Given the description of an element on the screen output the (x, y) to click on. 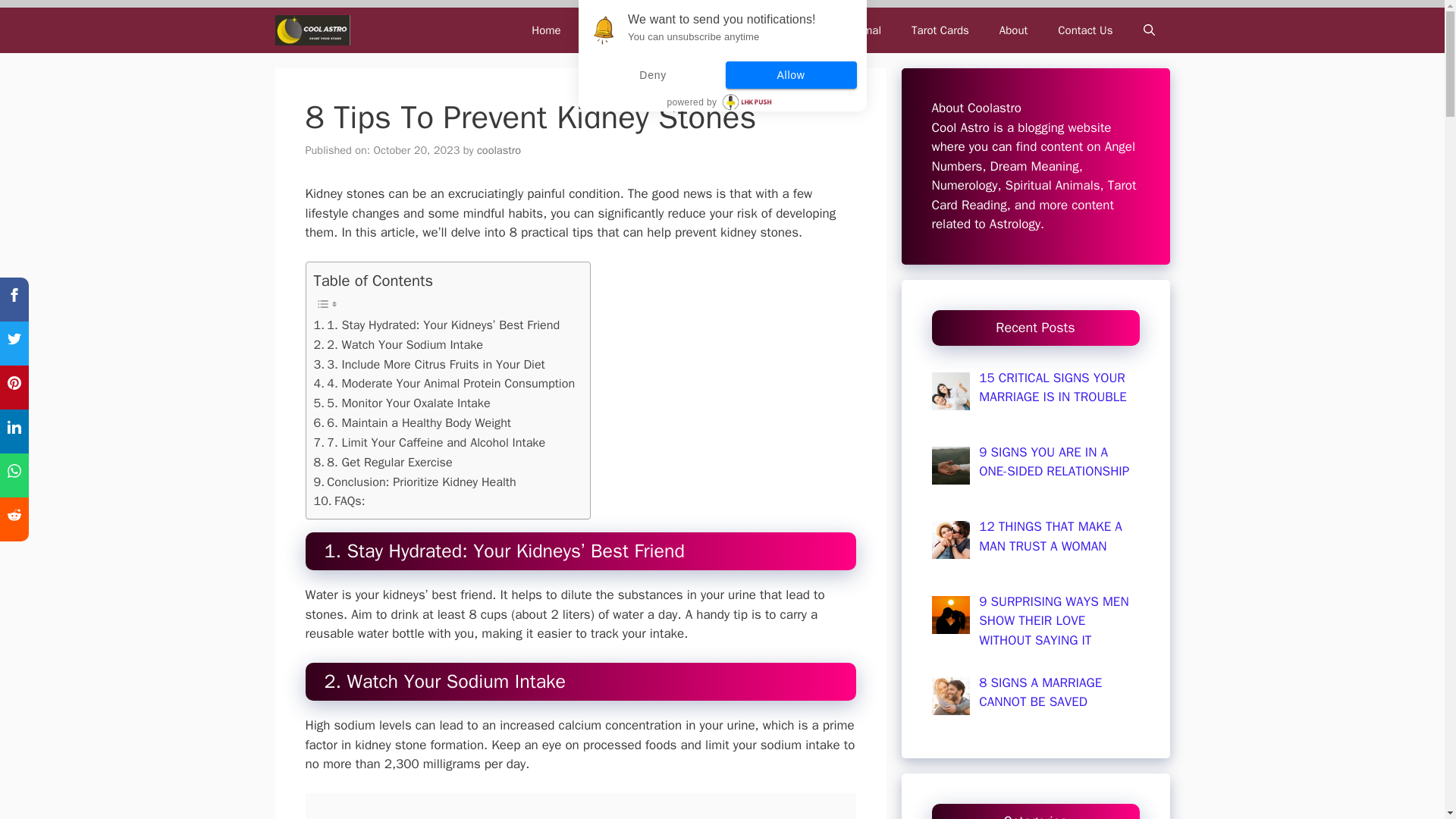
6. Maintain a Healthy Body Weight (413, 423)
Contact Us (1084, 30)
6. Maintain a Healthy Body Weight (413, 423)
3. Include More Citrus Fruits in Your Diet (429, 364)
4. Moderate Your Animal Protein Consumption (444, 383)
View all posts by coolastro (499, 150)
2. Watch Your Sodium Intake (398, 344)
5. Monitor Your Oxalate Intake (402, 403)
Cool Astro (312, 30)
Cool Astro (315, 30)
About (1013, 30)
3. Include More Citrus Fruits in Your Diet (429, 364)
8. Get Regular Exercise (383, 462)
Home (545, 30)
7. Limit Your Caffeine and Alcohol Intake (430, 442)
